Given the description of an element on the screen output the (x, y) to click on. 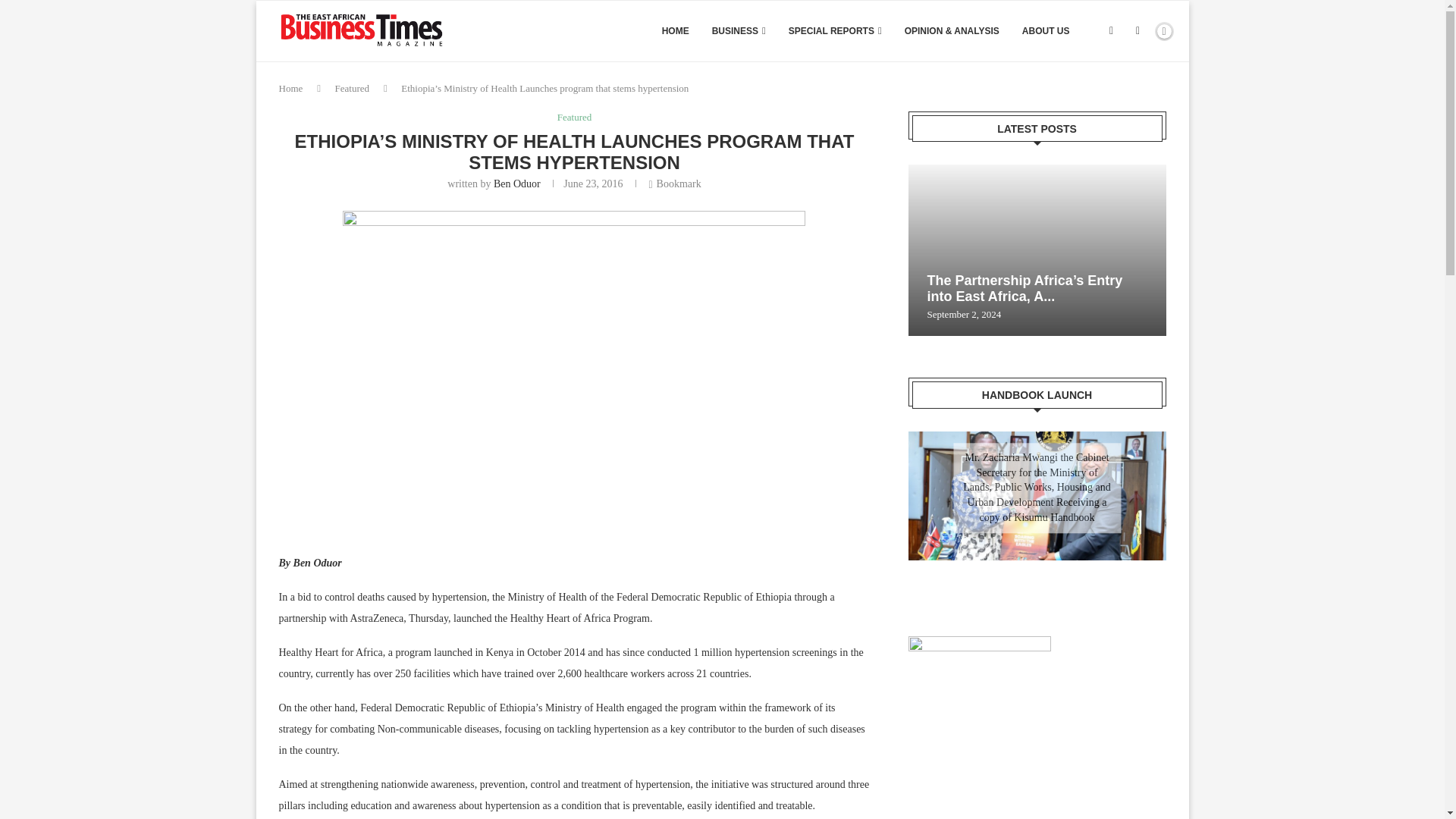
Ben Oduor (516, 183)
SPECIAL REPORTS (835, 30)
Home (290, 88)
Featured (351, 88)
Featured (574, 117)
Bookmark (673, 184)
